Given the description of an element on the screen output the (x, y) to click on. 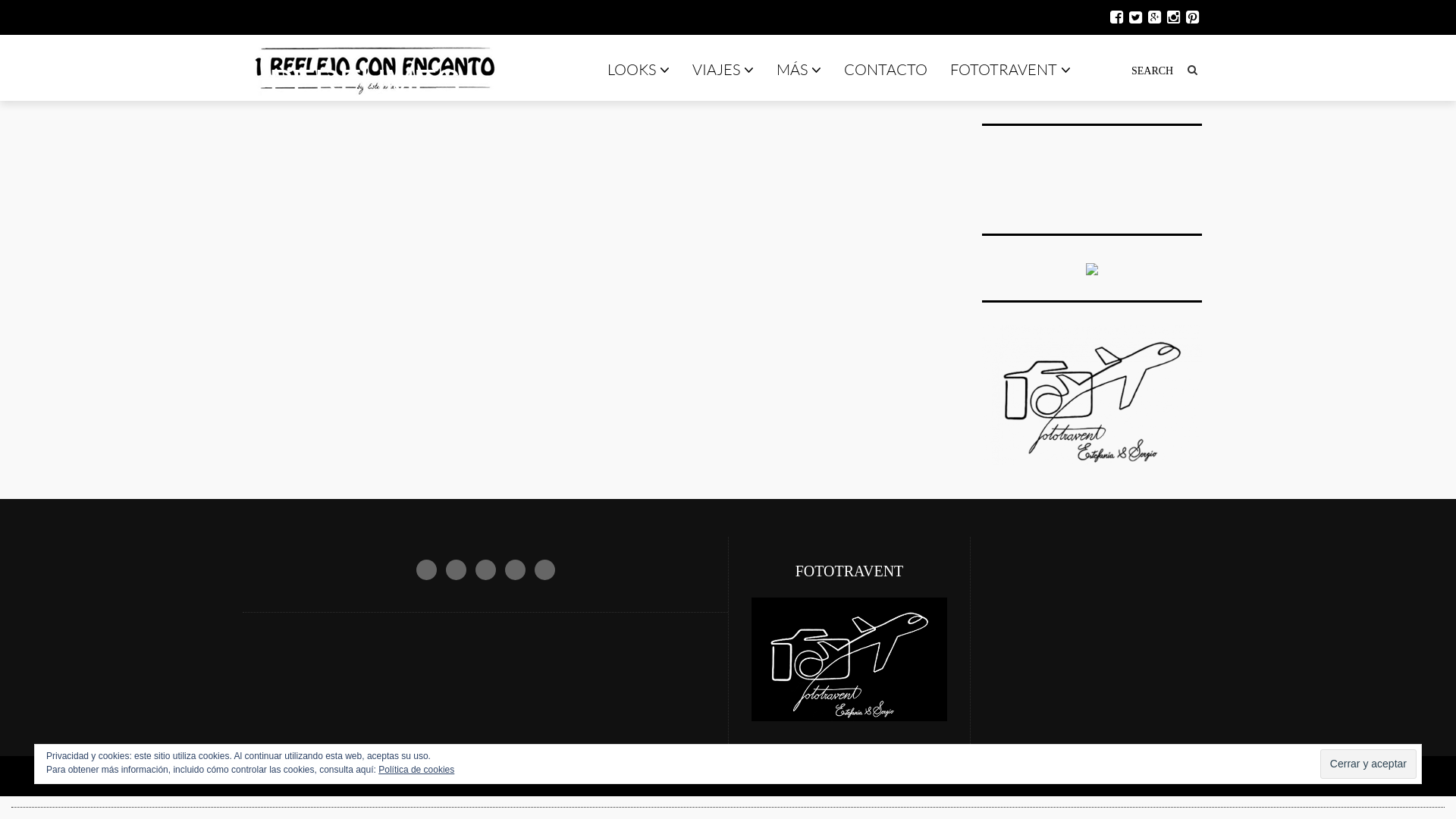
Cerrar y aceptar Element type: text (1368, 763)
LOOKS Element type: text (638, 68)
CONTACTO Element type: text (885, 68)
VIAJES Element type: text (722, 68)
FOTOTRAVENT Element type: text (1010, 68)
